Given the description of an element on the screen output the (x, y) to click on. 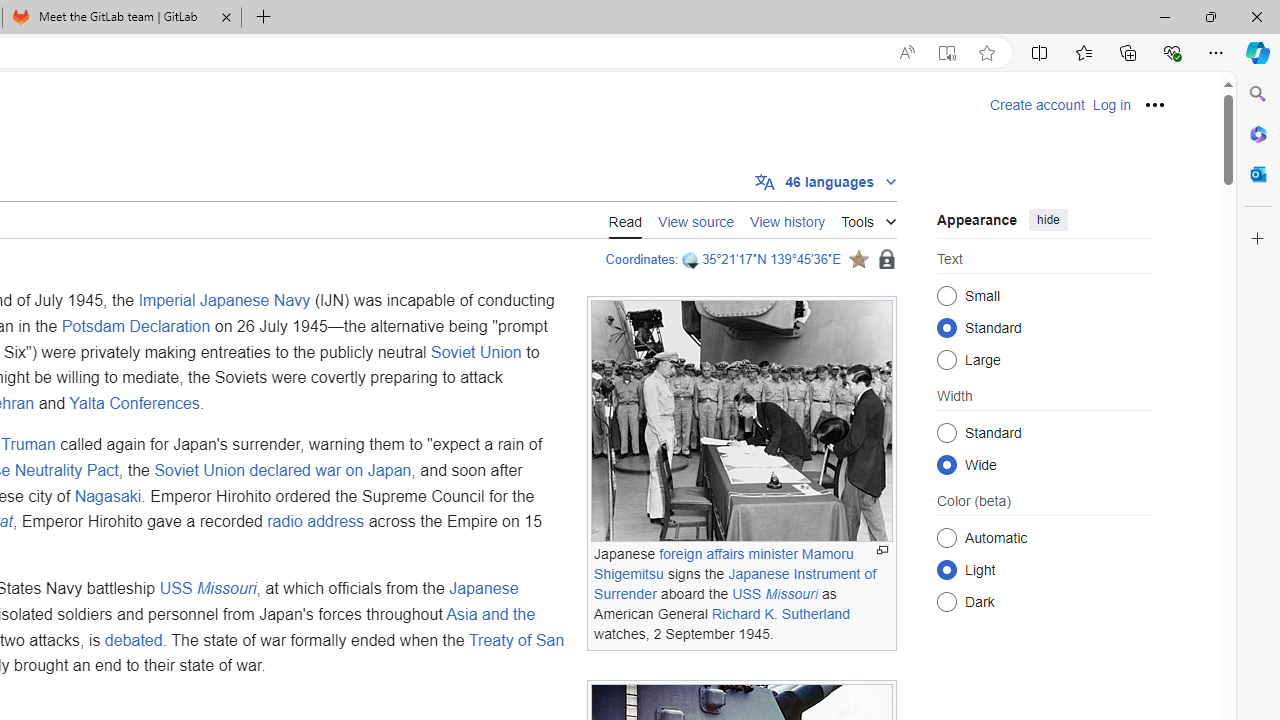
View source (695, 219)
View history (787, 219)
hide (1048, 219)
Potsdam Declaration (136, 325)
Create account (1037, 105)
Log in (1111, 105)
Japanese Instrument of Surrender (734, 583)
